Given the description of an element on the screen output the (x, y) to click on. 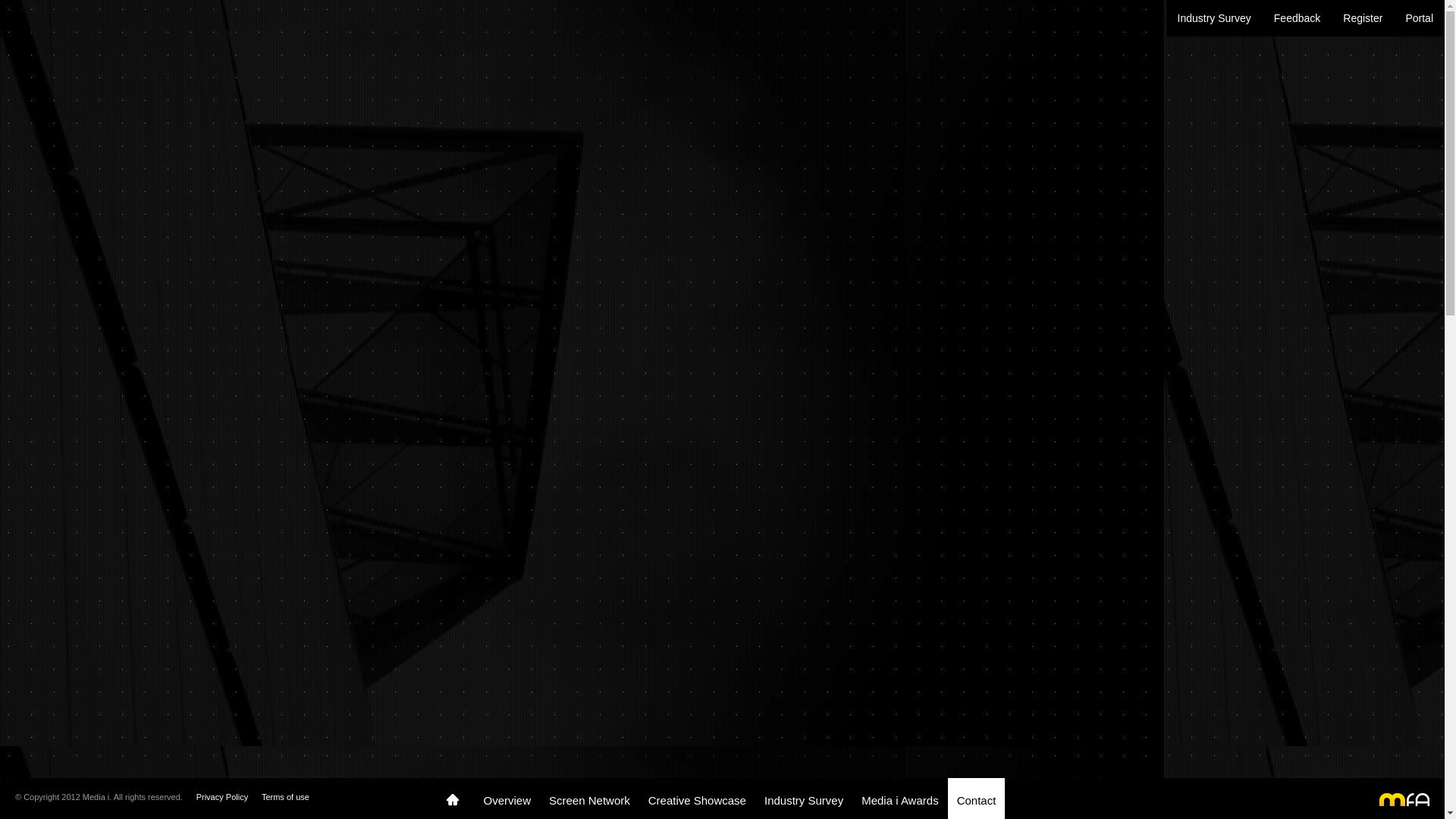
Feedback Element type: text (1296, 18)
Portal Element type: text (1418, 18)
Register Element type: text (1362, 18)
Privacy Policy Element type: text (221, 796)
Terms of use Element type: text (285, 796)
Industry Survey Element type: text (1214, 18)
